Given the description of an element on the screen output the (x, y) to click on. 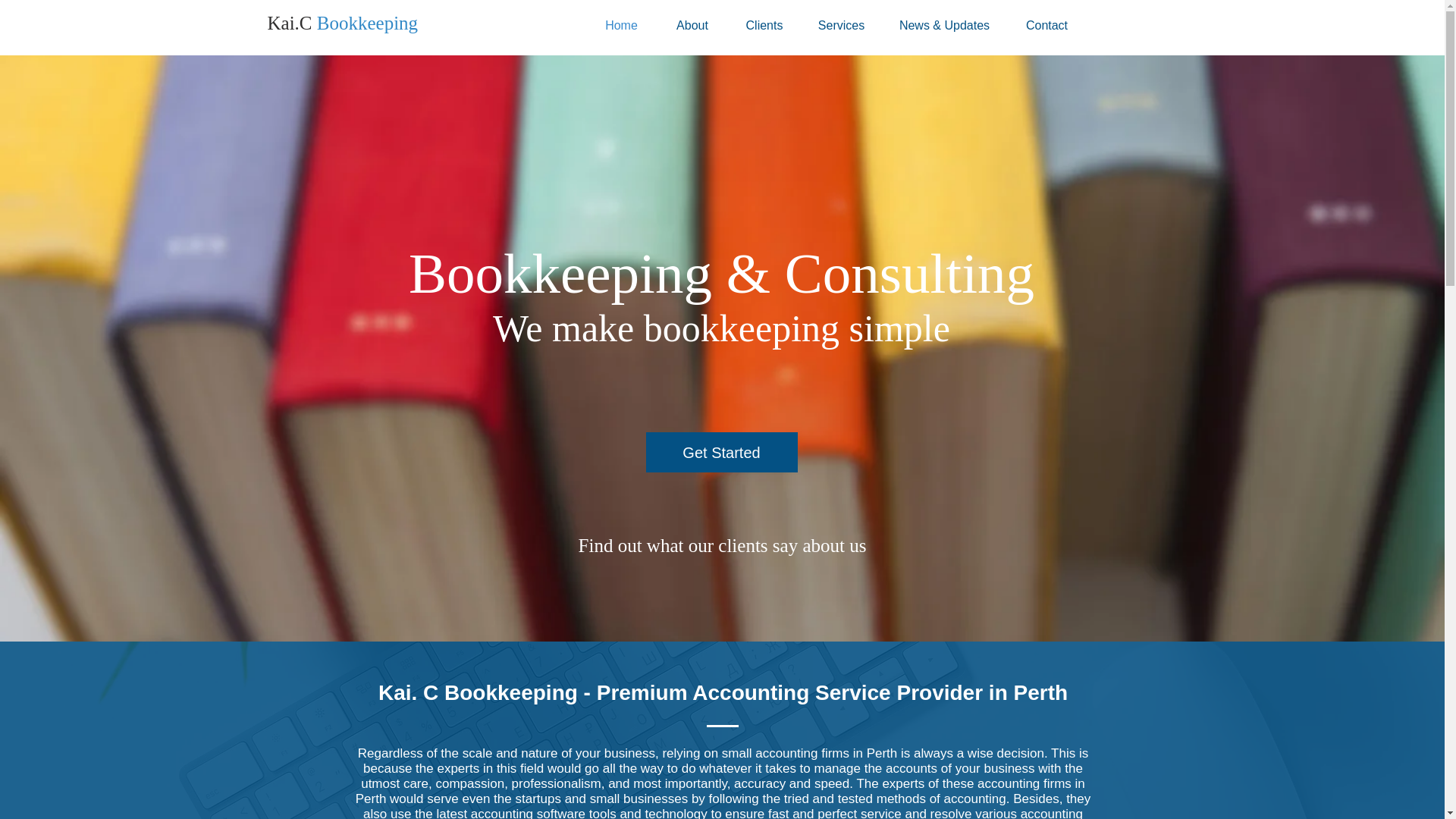
About (691, 25)
Home (620, 25)
Services (840, 25)
Clients (765, 25)
Contact (1046, 25)
Find out what our clients say about us (722, 545)
Get Started (721, 452)
